Given the description of an element on the screen output the (x, y) to click on. 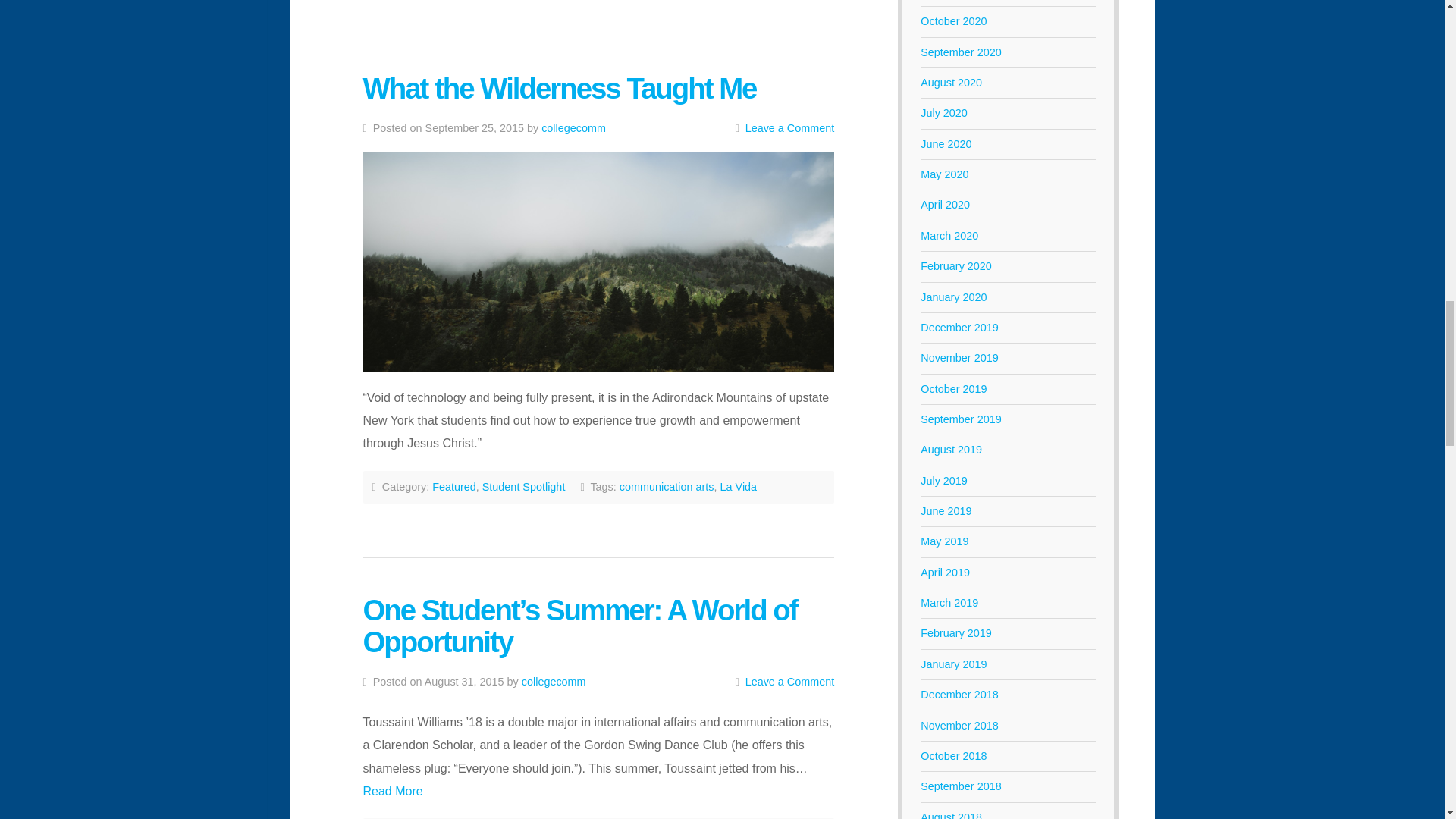
Leave a Comment (789, 128)
Posts by collegecomm (553, 681)
What the Wilderness Taught Me (558, 88)
Posts by collegecomm (573, 128)
Permalink to What the Wilderness Taught Me (598, 261)
Featured (454, 486)
collegecomm (573, 128)
